Given the description of an element on the screen output the (x, y) to click on. 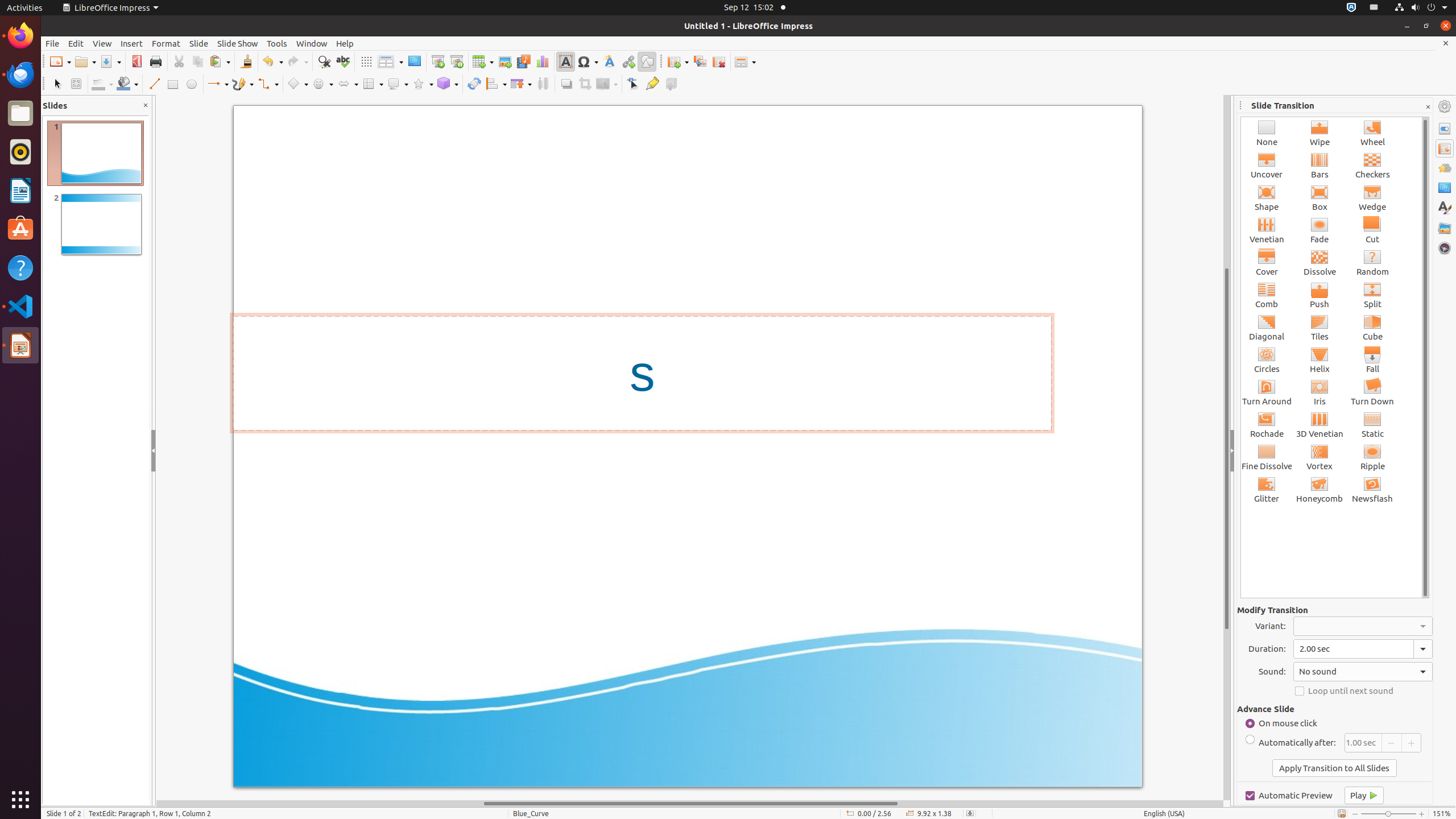
Edit Points Element type: push-button (632, 83)
Distribution Element type: push-button (542, 83)
Copy Element type: push-button (197, 61)
Play Element type: push-button (1363, 795)
